Given the description of an element on the screen output the (x, y) to click on. 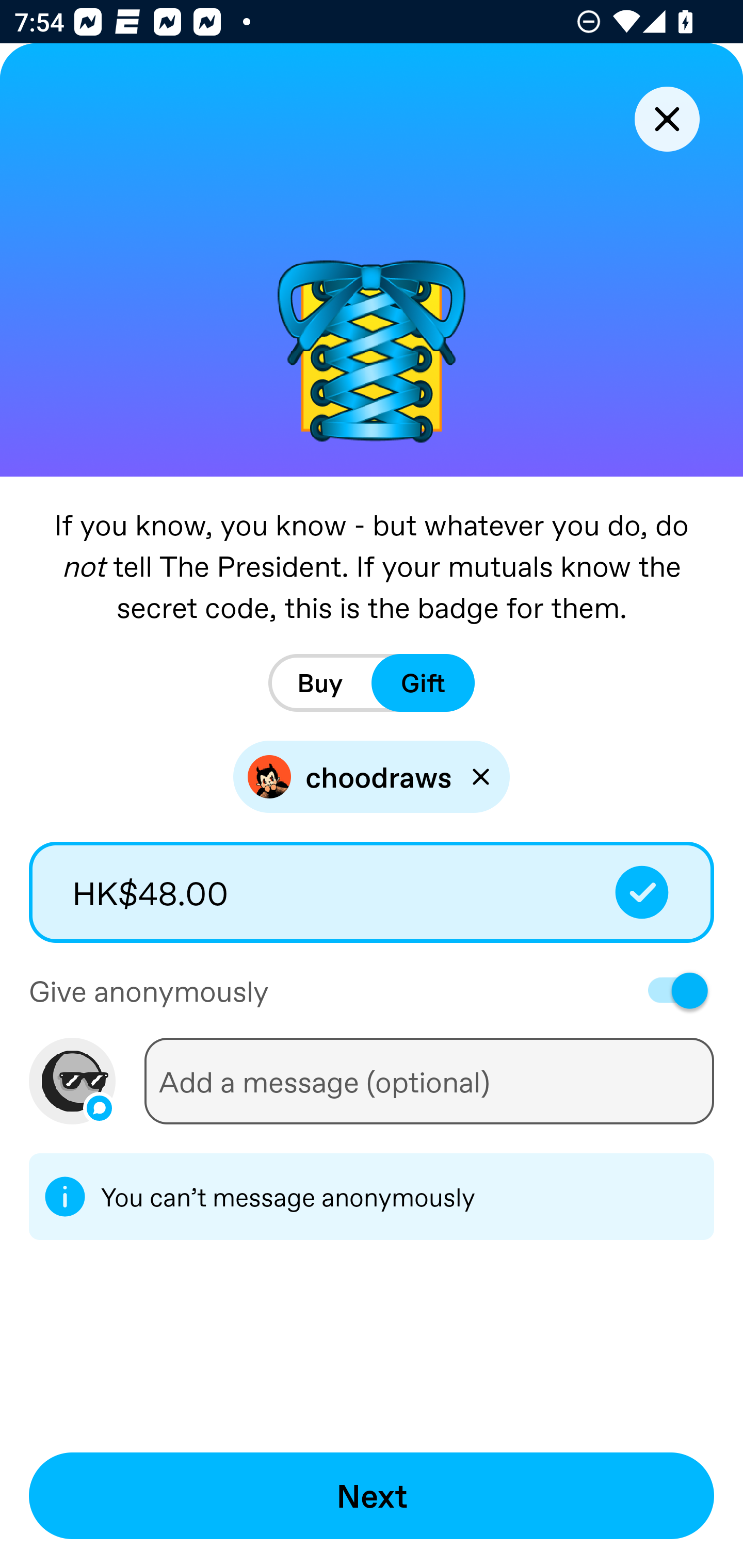
Buy (319, 682)
Gift (423, 682)
Add a message (optional) (429, 1081)
Next (371, 1495)
